Given the description of an element on the screen output the (x, y) to click on. 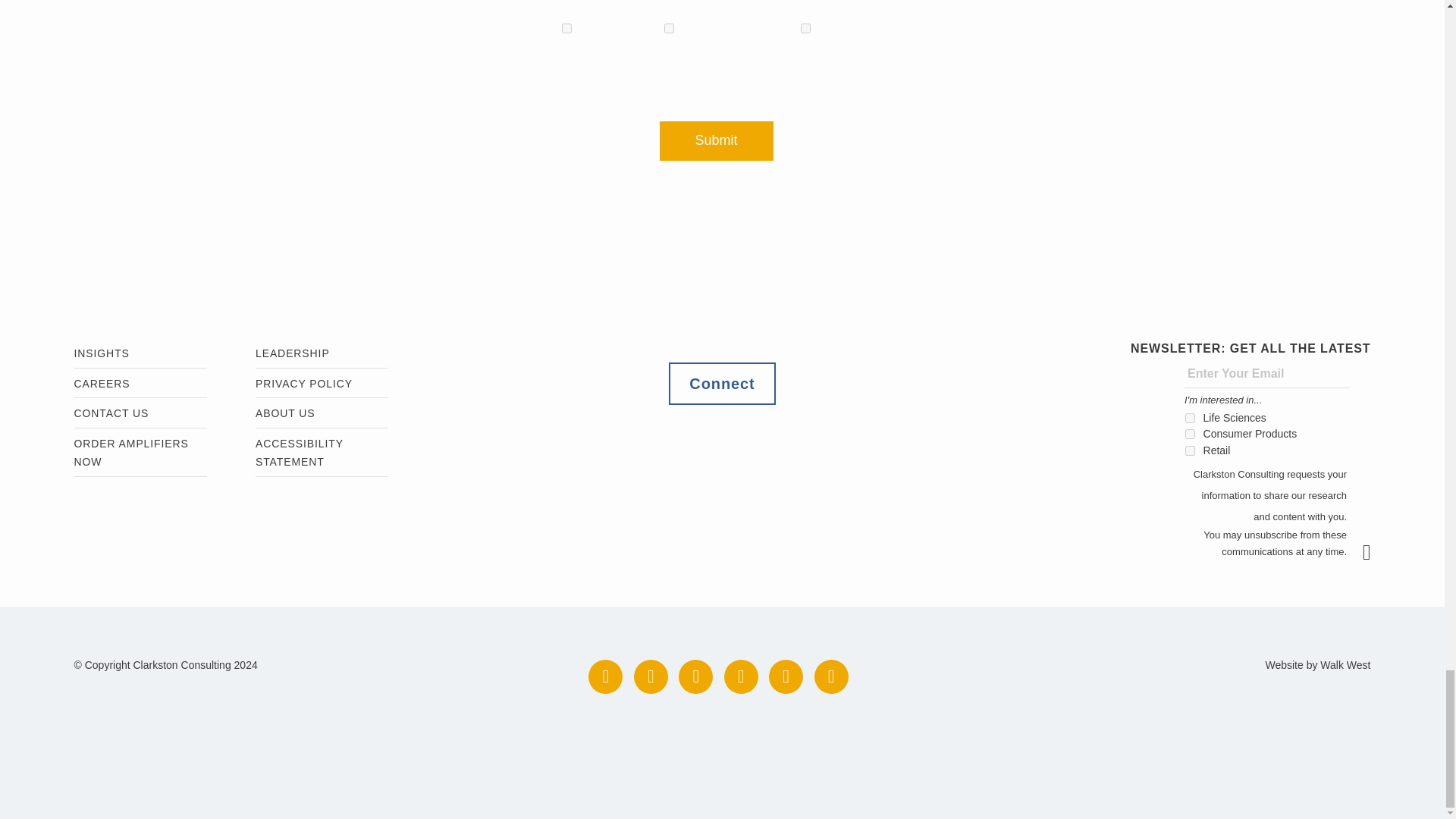
Retail Industry (805, 28)
Retail Industry (1190, 450)
Submit (1374, 551)
Consumer Products and Retail (668, 28)
Consumer Products and Retail (1190, 433)
Life Sciences (567, 28)
Life Sciences (1190, 418)
Submit (716, 140)
